Given the description of an element on the screen output the (x, y) to click on. 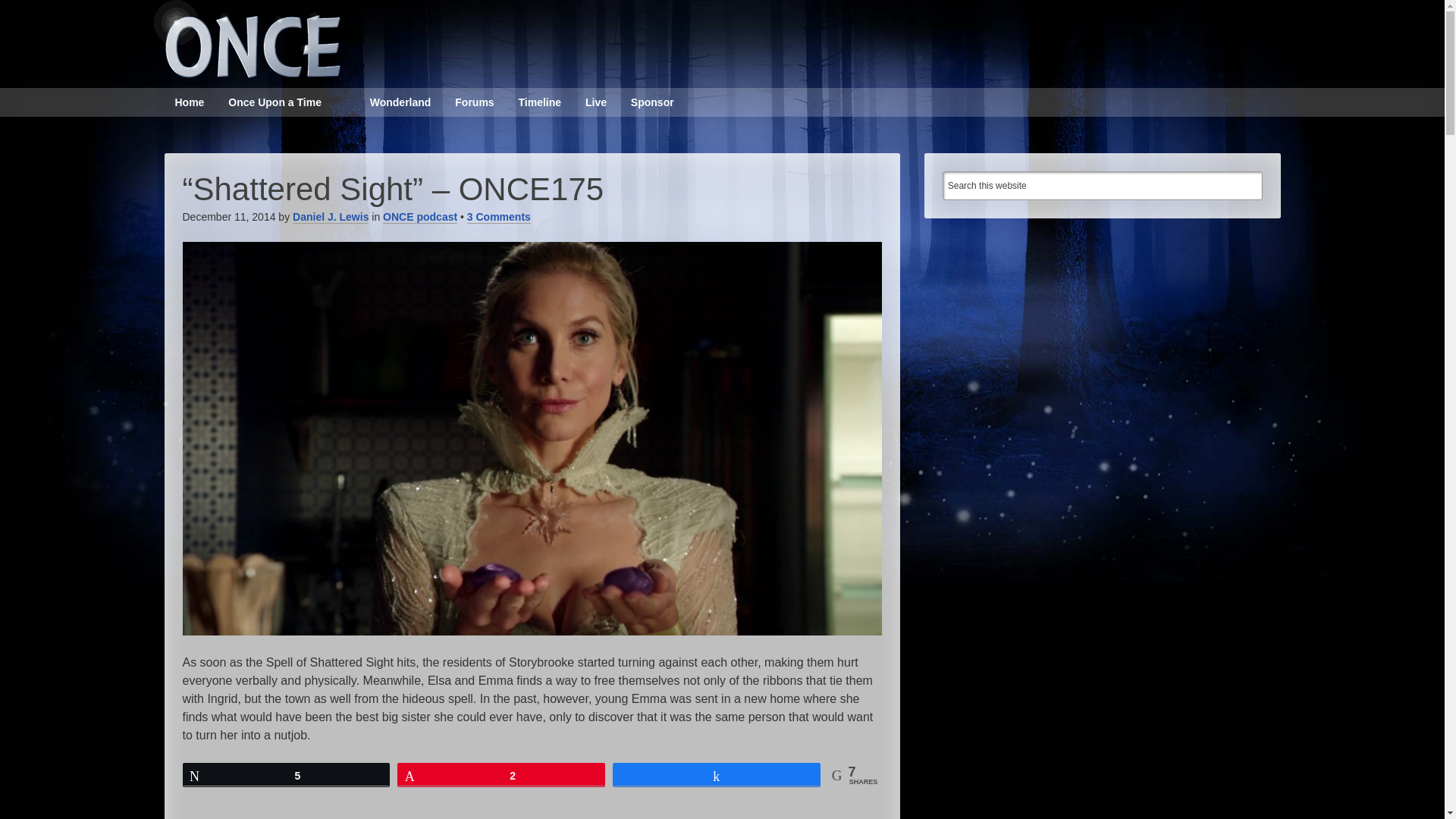
3 Comments (499, 216)
Timeline (540, 102)
ONCE podcast (419, 216)
ONCE - Once Upon a Time podcast (242, 39)
5 (286, 774)
2 (500, 774)
Live (596, 102)
Once Upon a Time (273, 102)
Home (188, 102)
Daniel J. Lewis (330, 216)
Sponsor (652, 102)
Forums (473, 102)
Wonderland (400, 102)
